Given the description of an element on the screen output the (x, y) to click on. 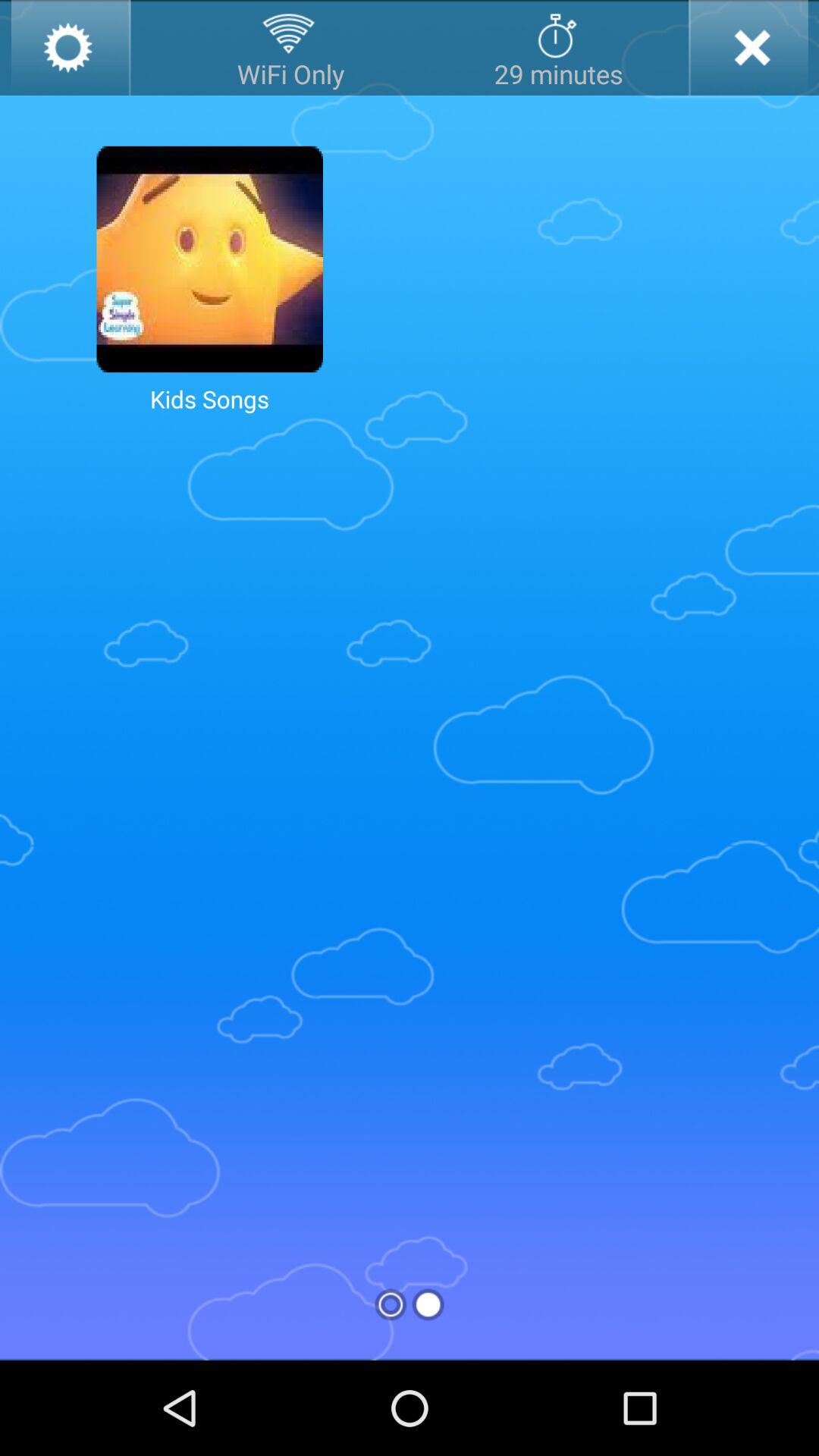
close (748, 47)
